Given the description of an element on the screen output the (x, y) to click on. 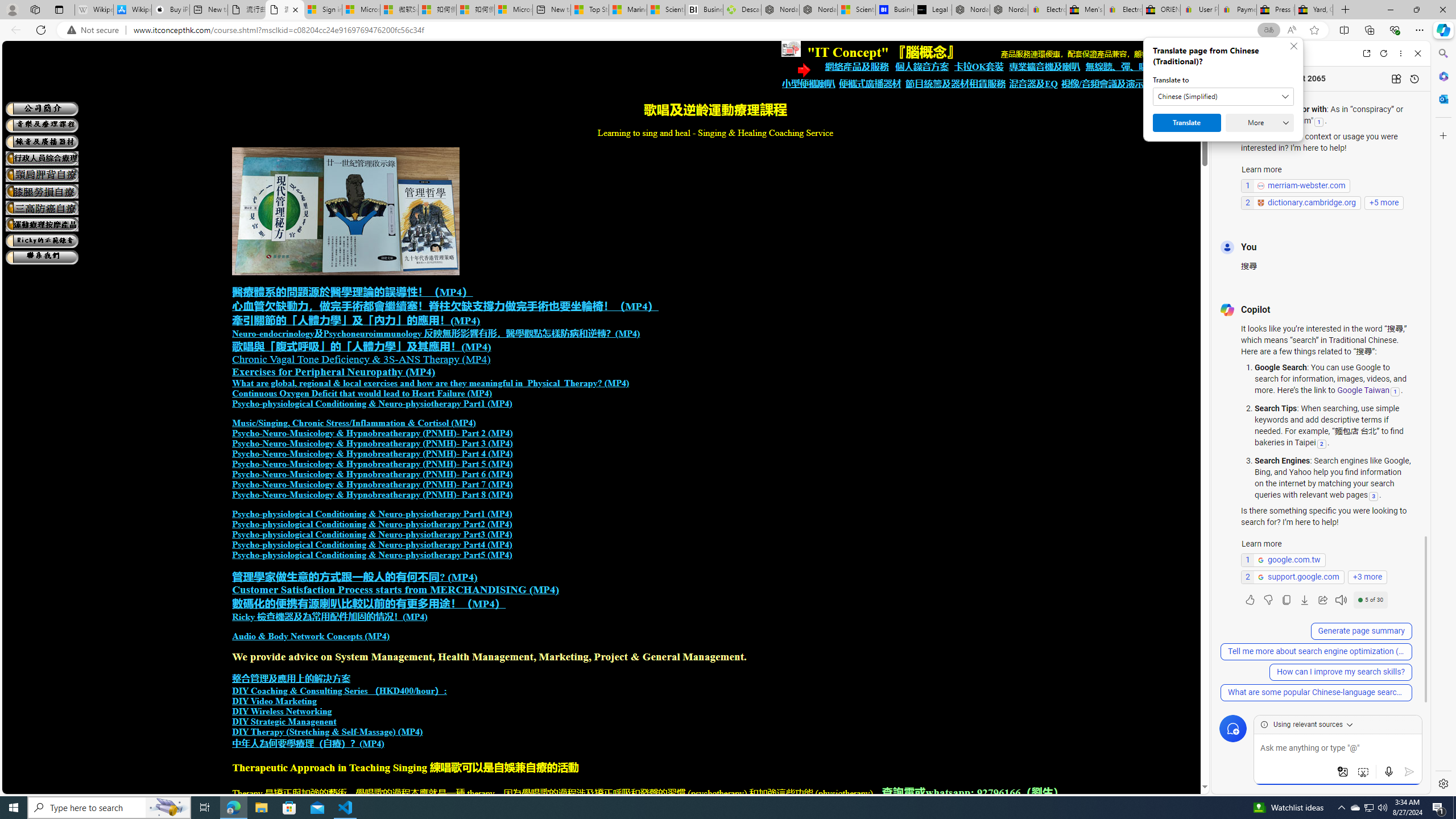
Translate to (1223, 96)
